Given the description of an element on the screen output the (x, y) to click on. 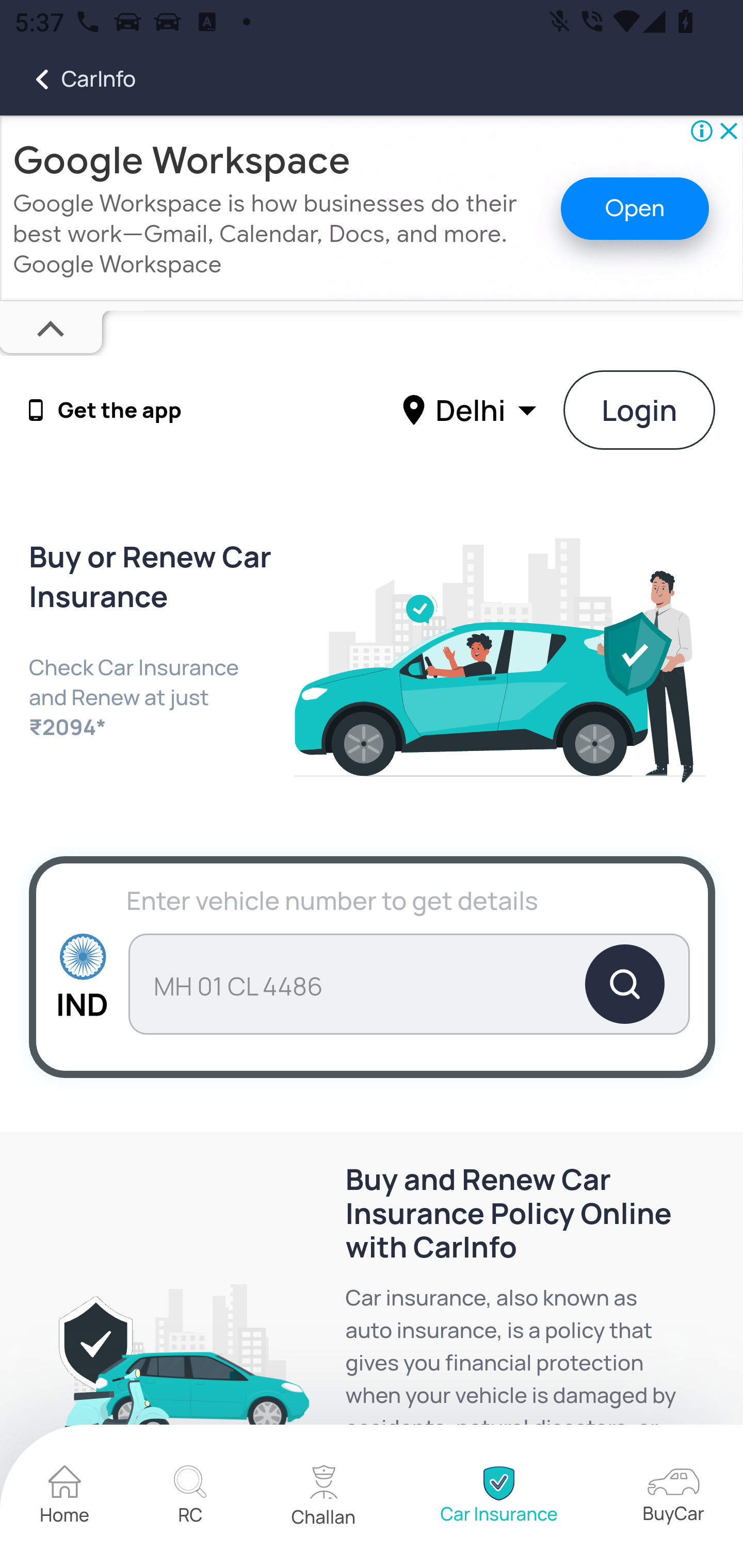
CarInfo (67, 79)
Google Workspace (182, 160)
Open (634, 208)
Login (639, 409)
Delhi (471, 408)
Get the app (119, 410)
search (408, 984)
home Challan home Challan (323, 1496)
home Home home Home (64, 1496)
home RC home RC (190, 1496)
home Car Insurance home Car Insurance (497, 1497)
home BuyCar home BuyCar (672, 1496)
